Given the description of an element on the screen output the (x, y) to click on. 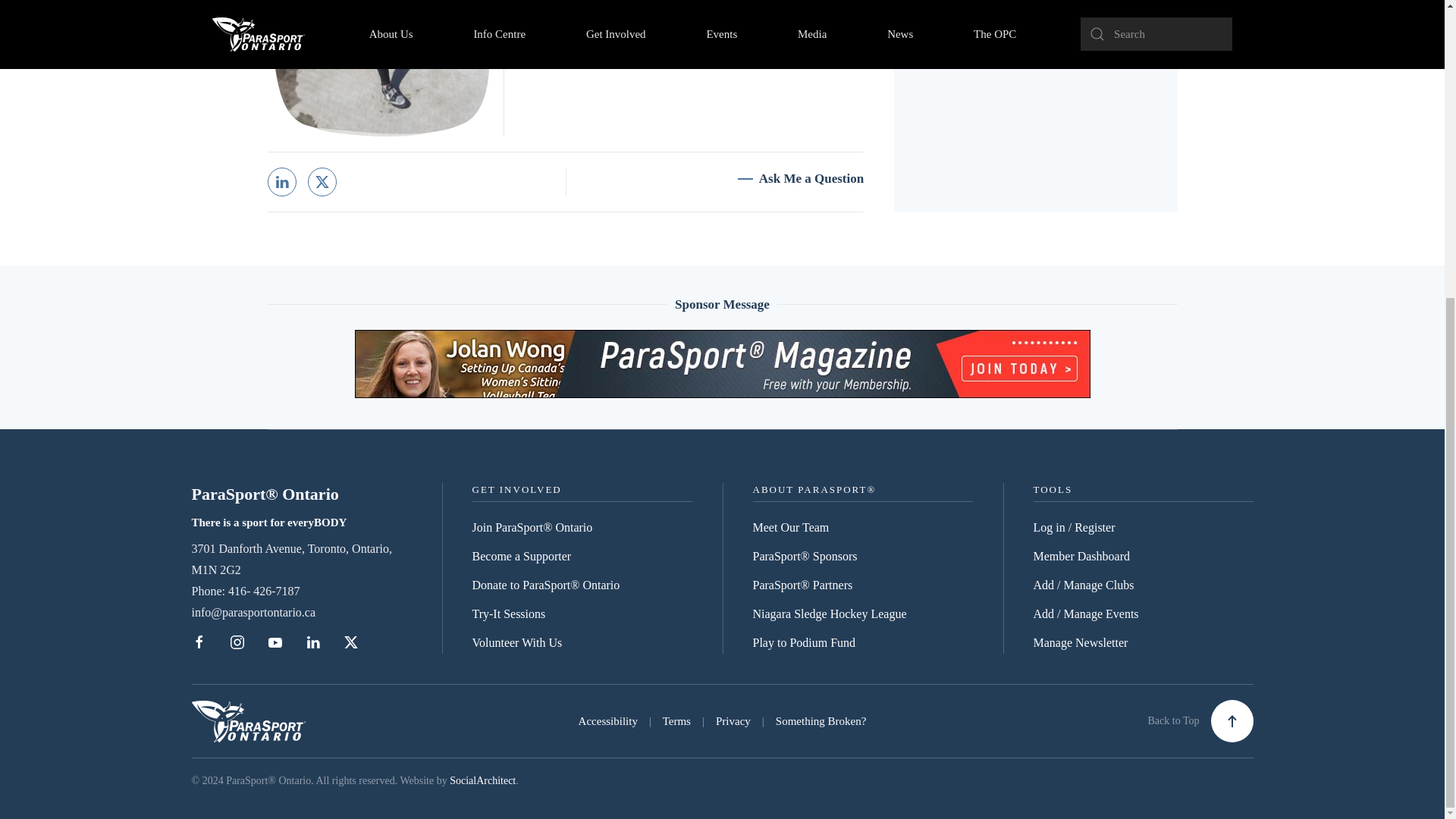
Advertisement - Parasport Join Today (722, 364)
Ask Me a Question (800, 178)
